Given the description of an element on the screen output the (x, y) to click on. 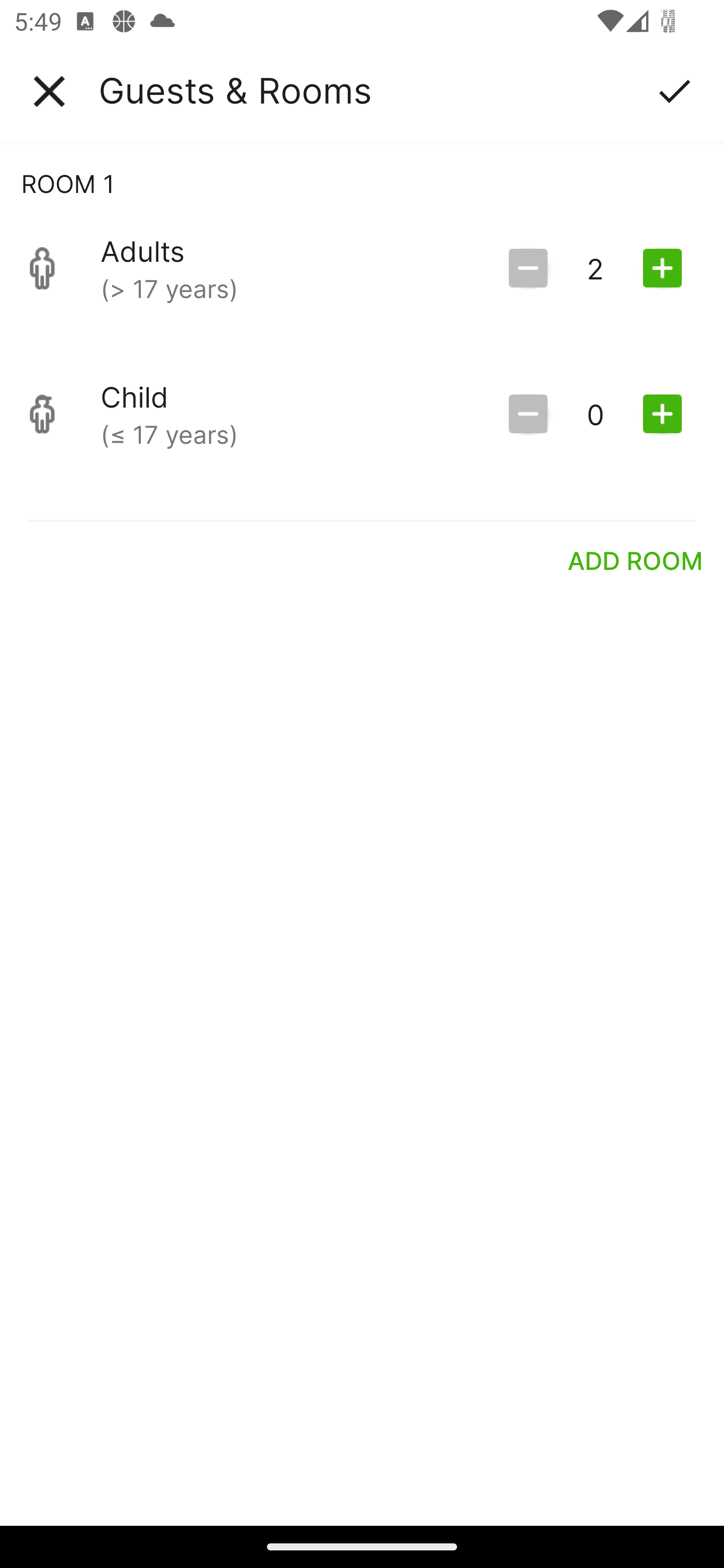
ADD ROOM (635, 560)
